Given the description of an element on the screen output the (x, y) to click on. 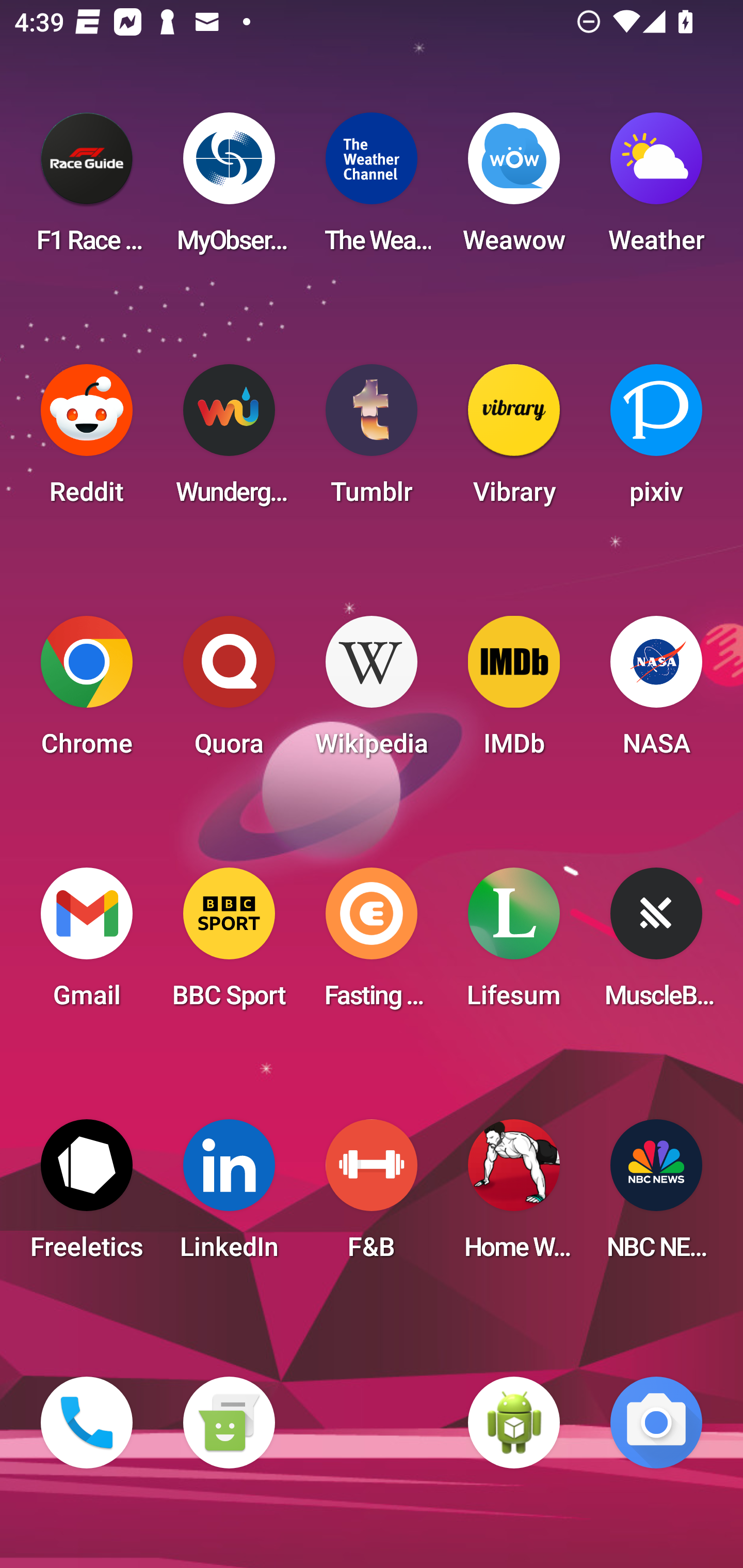
F1 Race Guide (86, 188)
MyObservatory (228, 188)
The Weather Channel (371, 188)
Weawow (513, 188)
Weather (656, 188)
Reddit (86, 440)
Wunderground (228, 440)
Tumblr (371, 440)
Vibrary (513, 440)
pixiv (656, 440)
Chrome (86, 692)
Quora (228, 692)
Wikipedia (371, 692)
IMDb (513, 692)
NASA (656, 692)
Gmail (86, 943)
BBC Sport (228, 943)
Fasting Coach (371, 943)
Lifesum (513, 943)
MuscleBooster (656, 943)
Freeletics (86, 1195)
LinkedIn (228, 1195)
F&B (371, 1195)
Home Workout (513, 1195)
NBC NEWS (656, 1195)
Phone (86, 1422)
Messaging (228, 1422)
WebView Browser Tester (513, 1422)
Camera (656, 1422)
